Given the description of an element on the screen output the (x, y) to click on. 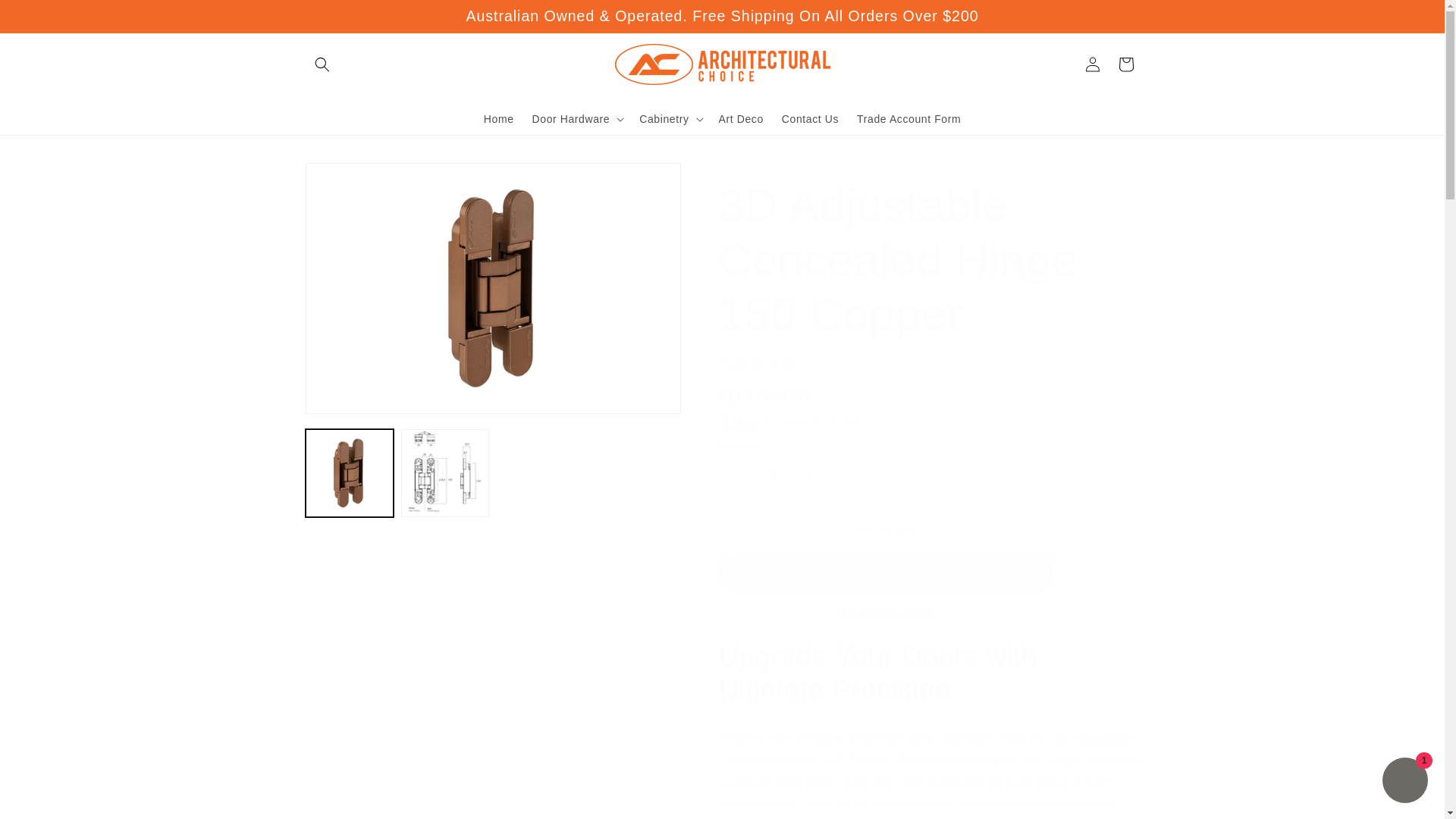
Open media 1 in modal (491, 288)
Skip to content (45, 17)
Shopify online store chat (1404, 781)
1 (773, 475)
